Given the description of an element on the screen output the (x, y) to click on. 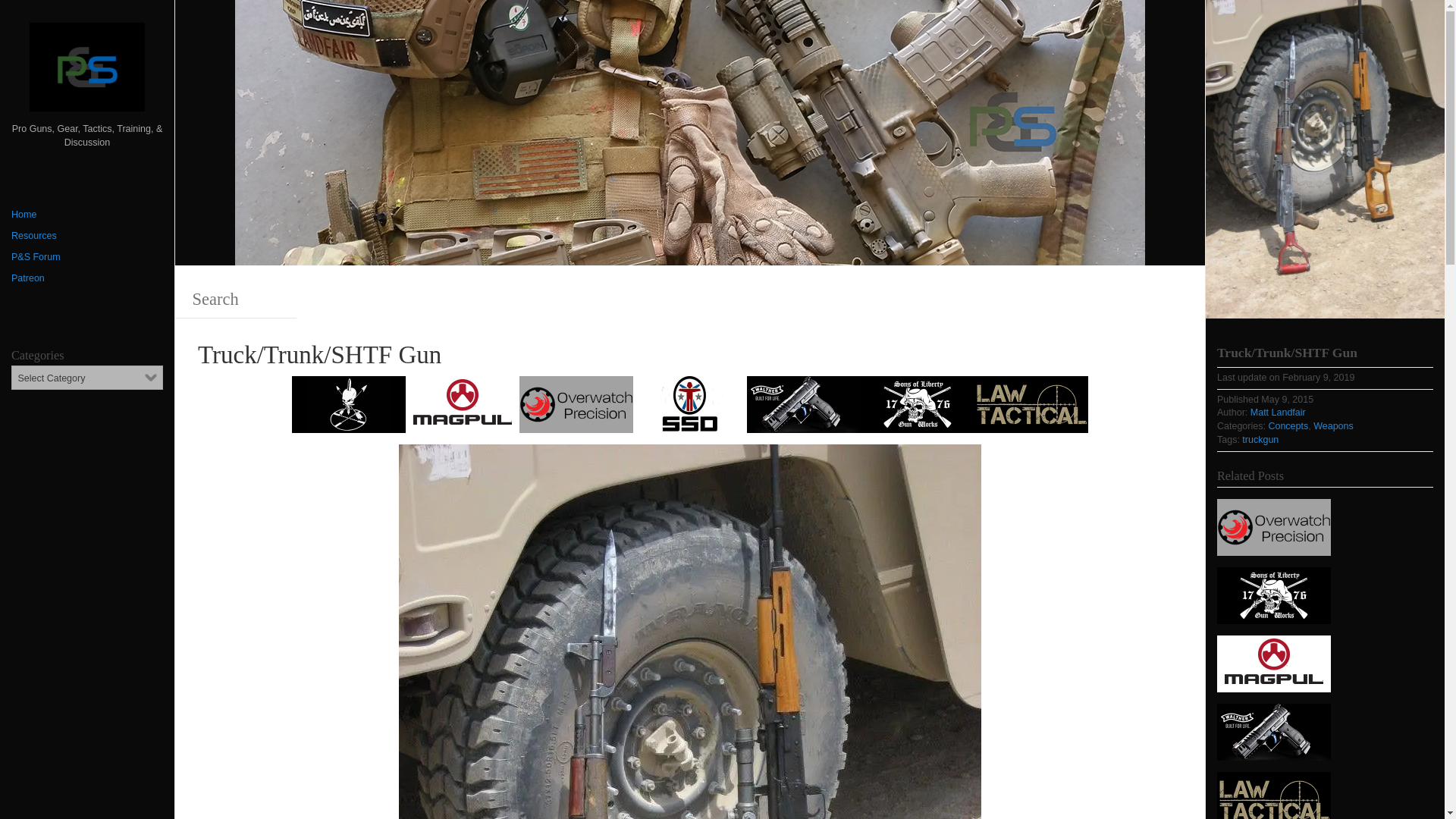
Home (87, 215)
Patreon (87, 278)
Search (235, 299)
Search (58, 18)
Resources (87, 236)
Matt Landfair (1278, 412)
Posts by Matt Landfair (1278, 412)
